Given the description of an element on the screen output the (x, y) to click on. 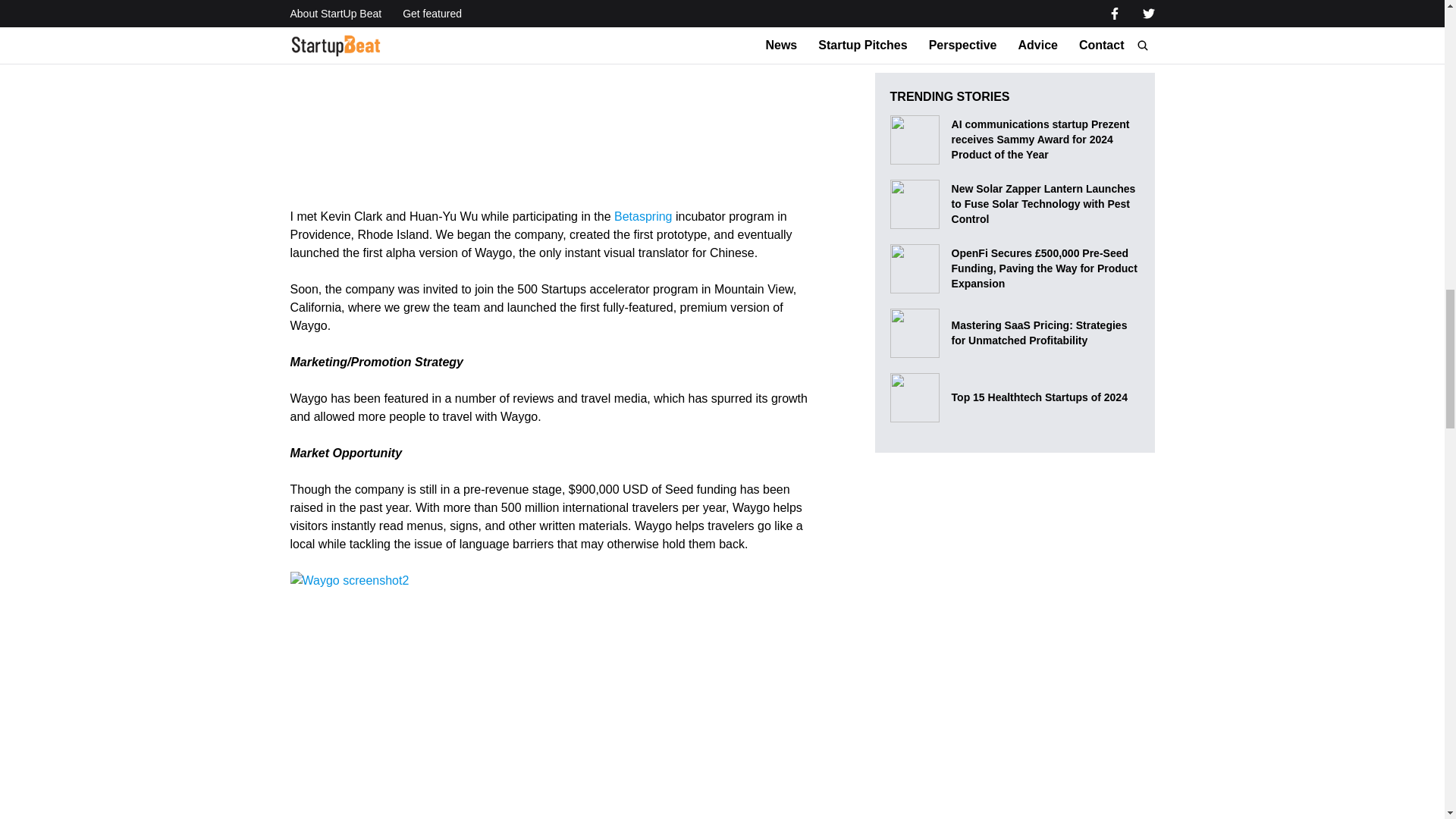
Betaspring (643, 215)
